Given the description of an element on the screen output the (x, y) to click on. 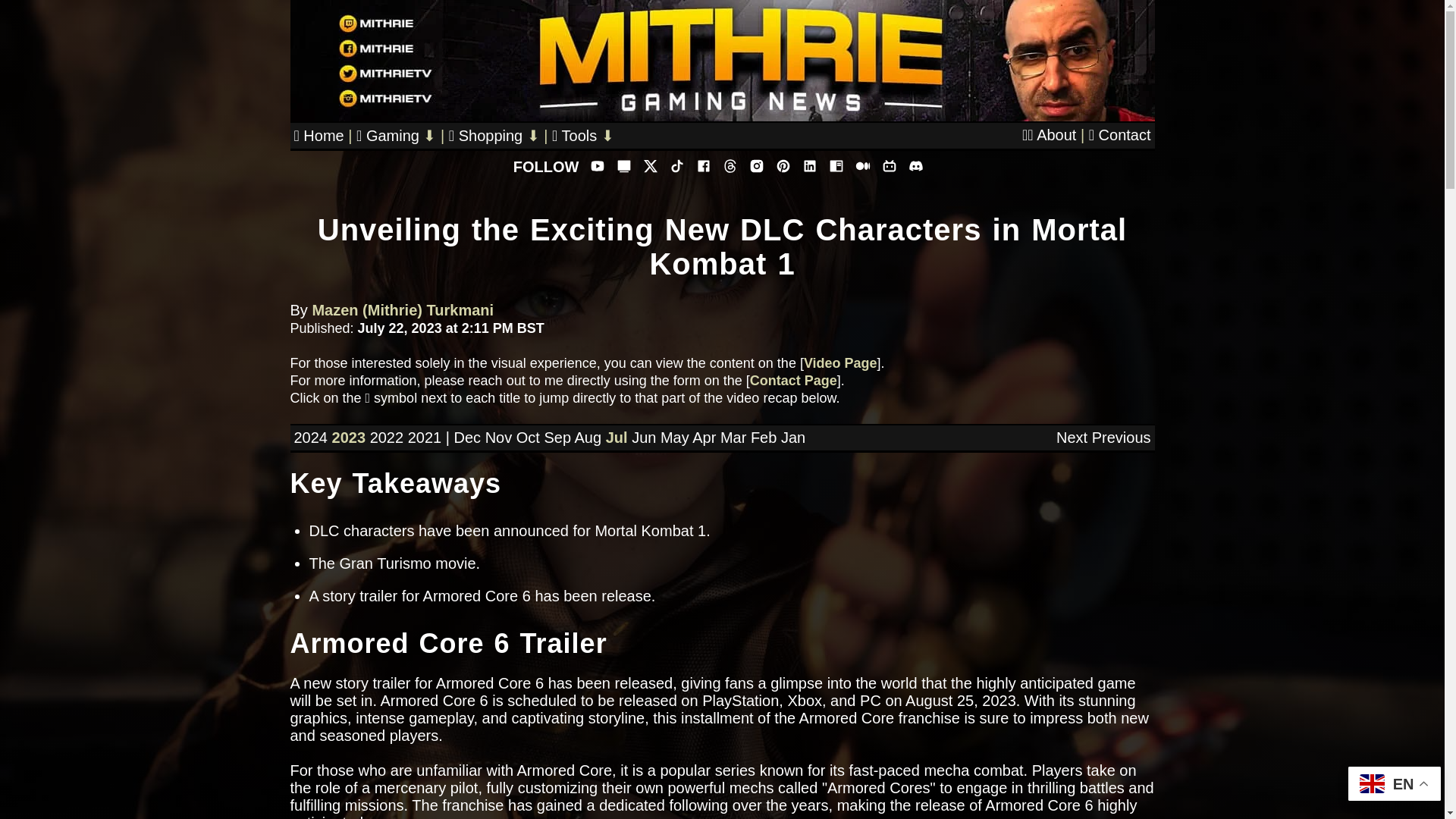
Contact Page (793, 380)
2022 (386, 437)
2024 (311, 437)
Video Page (840, 363)
Dec (466, 437)
2021 (424, 437)
